Given the description of an element on the screen output the (x, y) to click on. 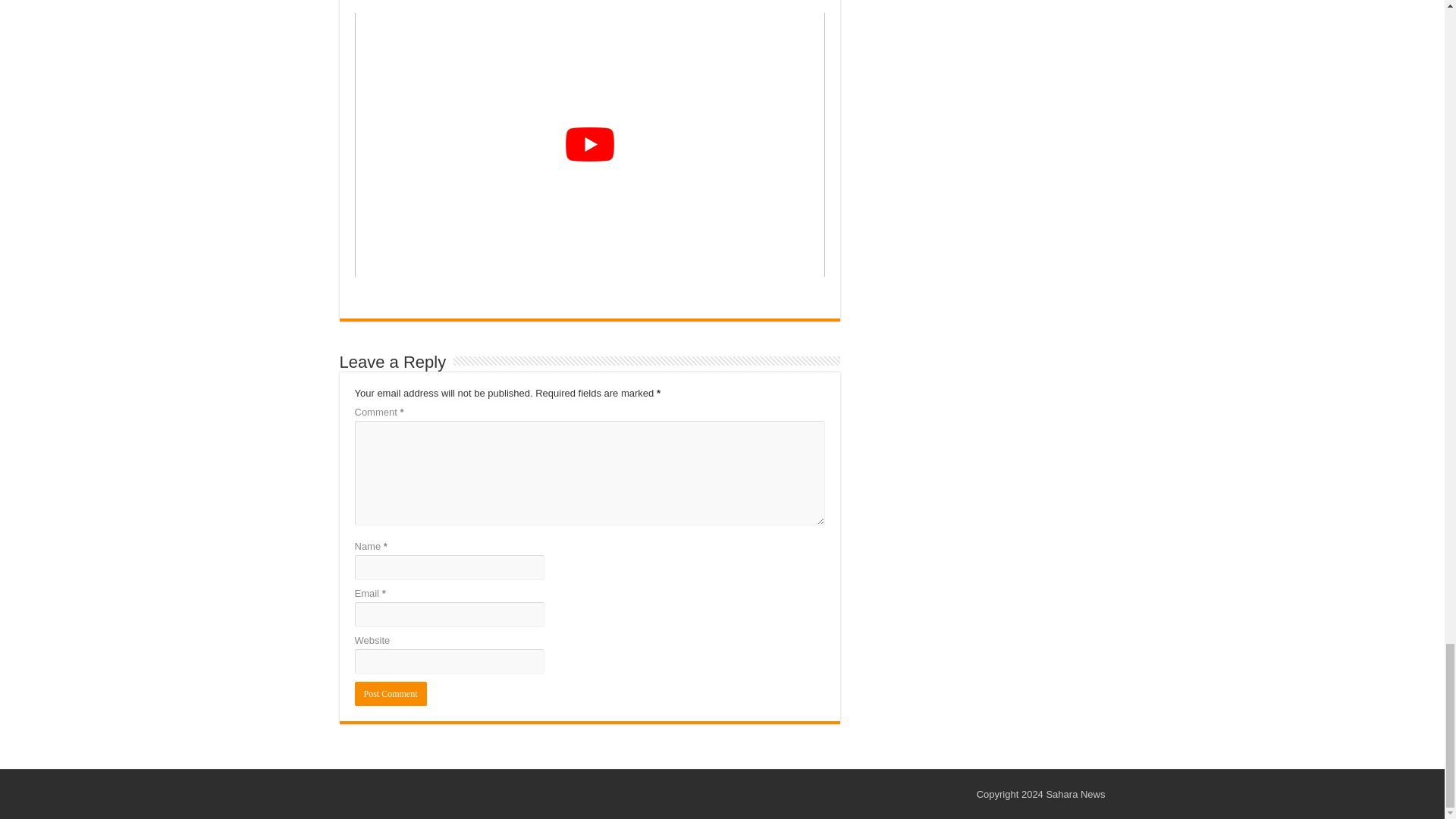
Post Comment (390, 693)
Sahara News (1075, 794)
Post Comment (390, 693)
